Given the description of an element on the screen output the (x, y) to click on. 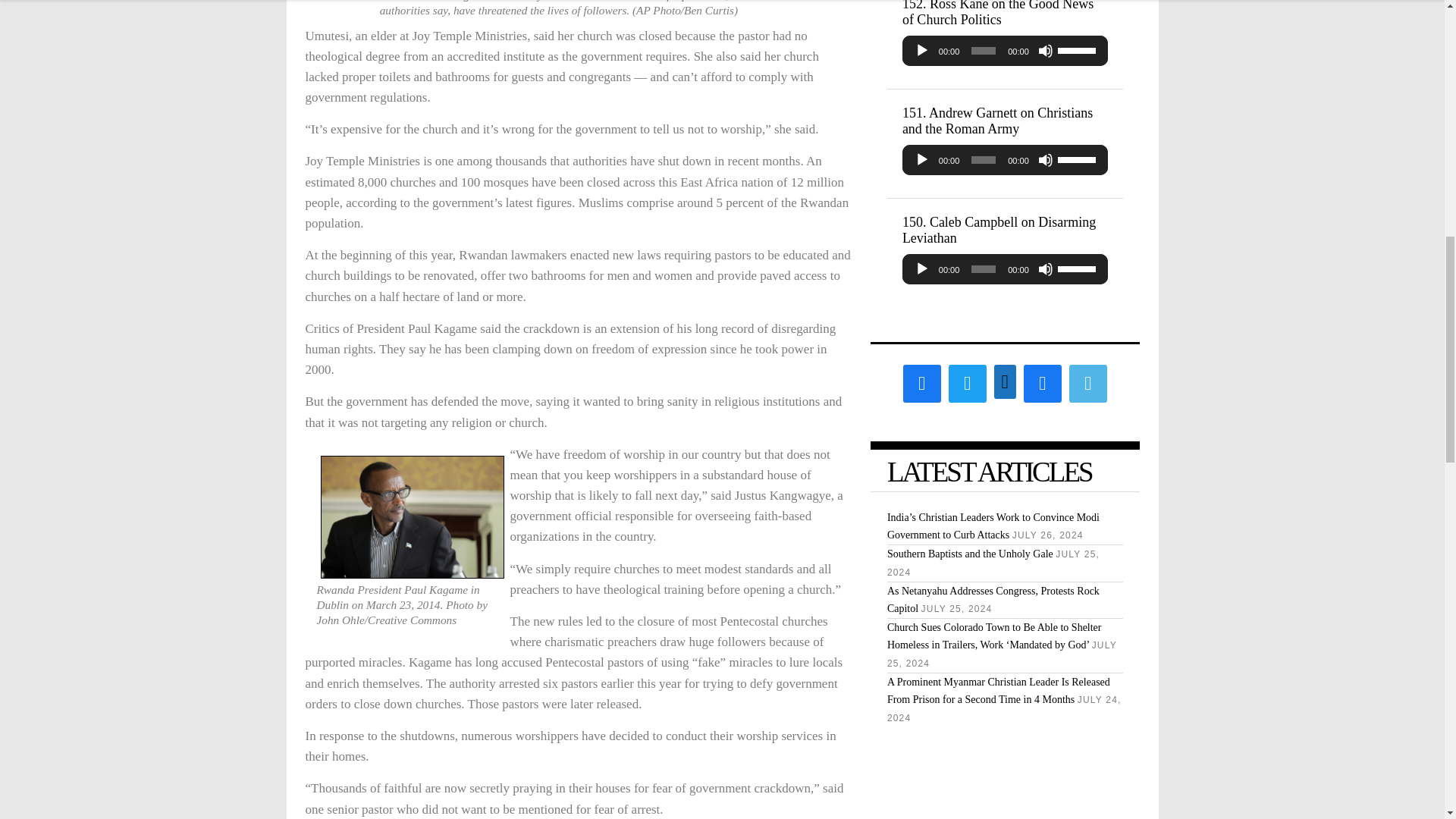
Play (922, 50)
Mute (1045, 159)
Play (922, 159)
Mute (1045, 50)
